Given the description of an element on the screen output the (x, y) to click on. 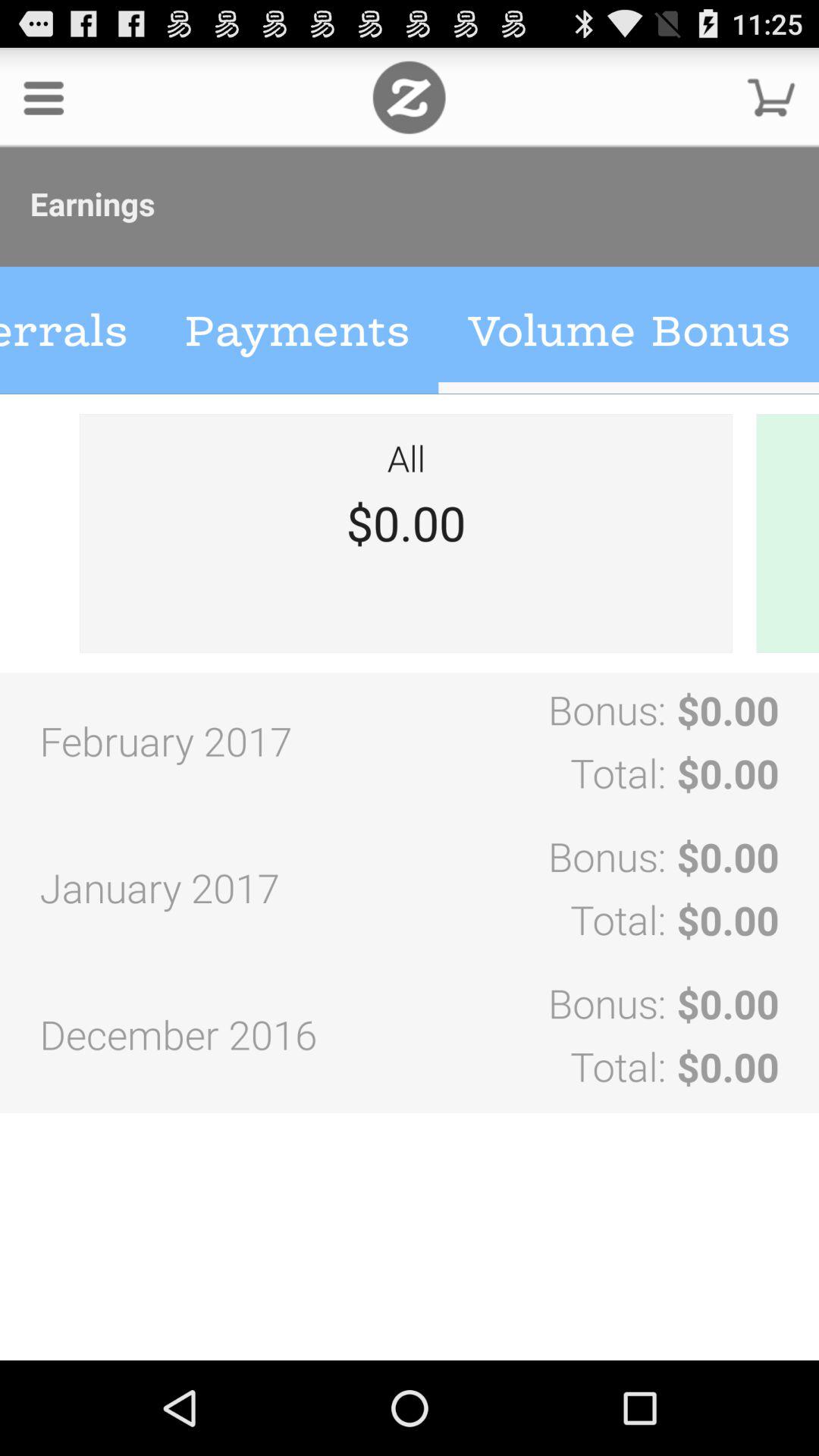
go to zazzle home page (408, 97)
